Given the description of an element on the screen output the (x, y) to click on. 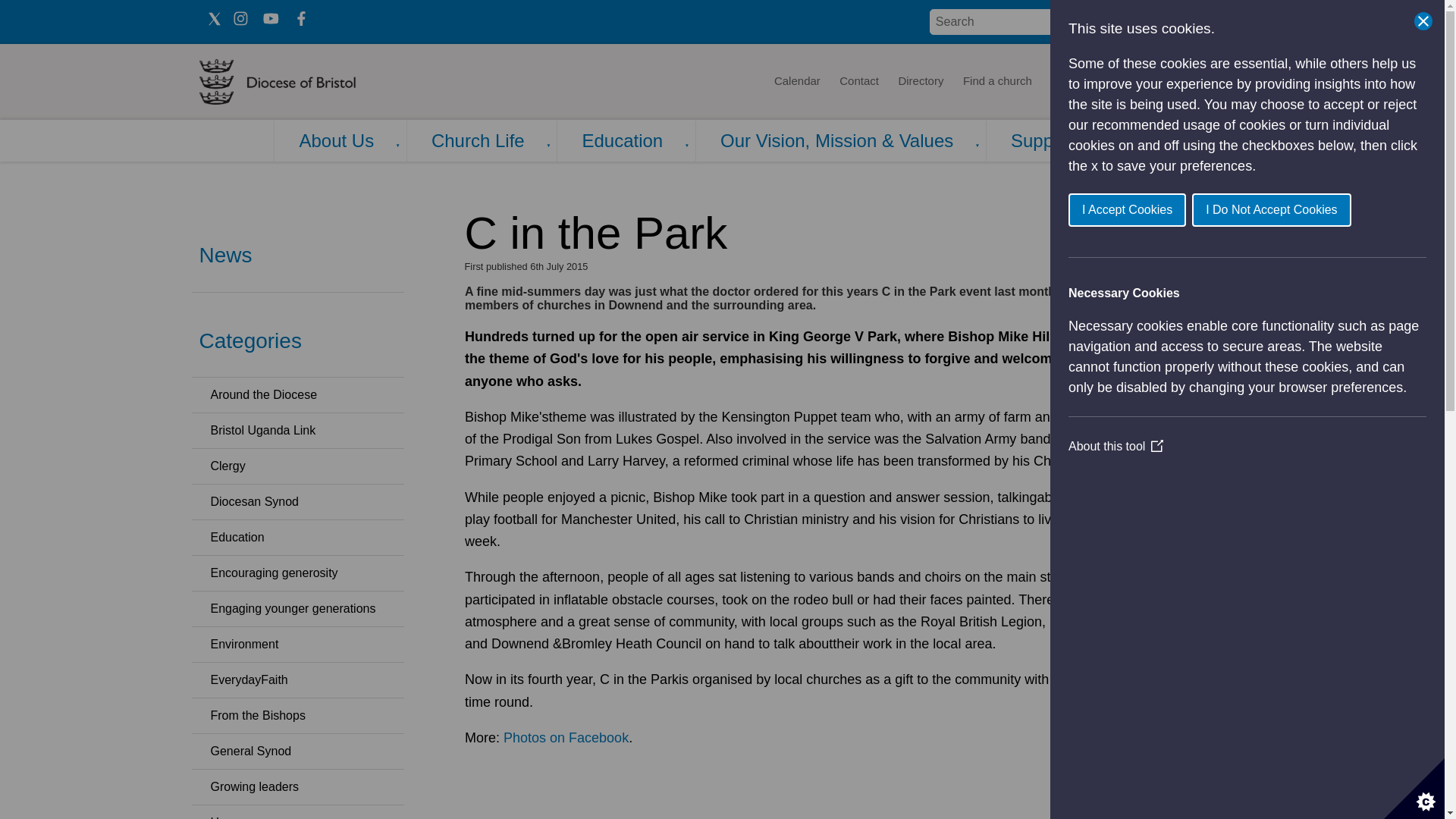
Find a church (997, 81)
News (1064, 81)
Safeguarding (1203, 81)
Calendar (797, 81)
Vacancies (1124, 81)
I Accept Cookies (1360, 209)
